Given the description of an element on the screen output the (x, y) to click on. 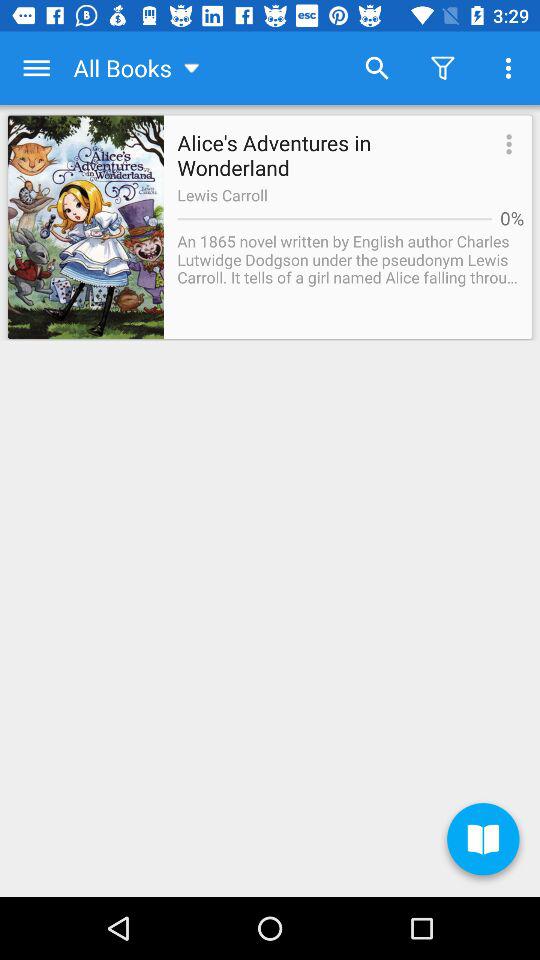
launch item next to the all books (36, 68)
